Given the description of an element on the screen output the (x, y) to click on. 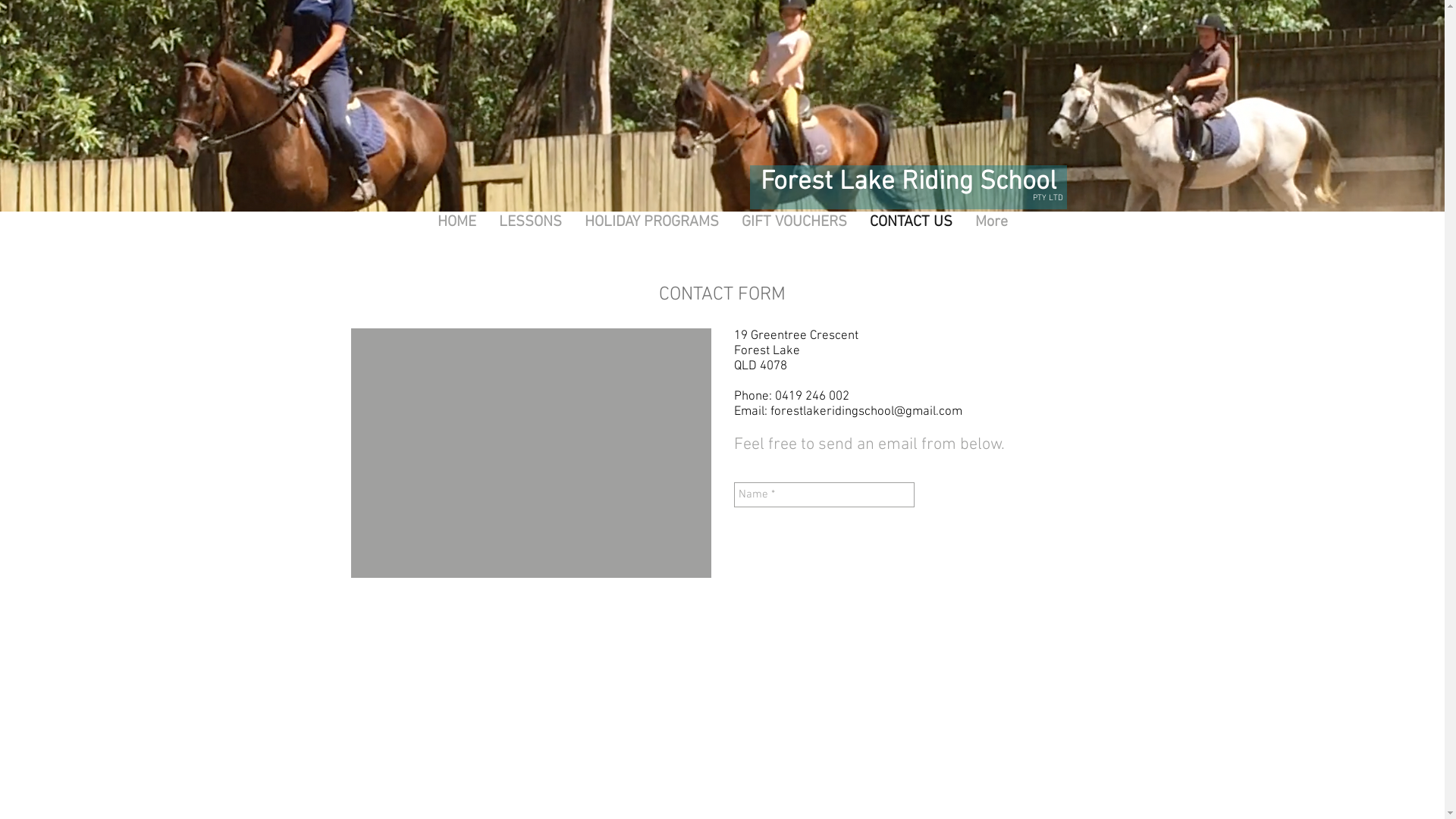
Forest Lake Riding School Element type: text (908, 181)
forestlakeridingschool@gmail.com Element type: text (866, 411)
LESSONS Element type: text (529, 233)
HOLIDAY PROGRAMS Element type: text (651, 233)
PTY LTD Element type: text (1047, 196)
HOME Element type: text (456, 233)
CONTACT US Element type: text (910, 233)
GIFT VOUCHERS Element type: text (793, 233)
